Given the description of an element on the screen output the (x, y) to click on. 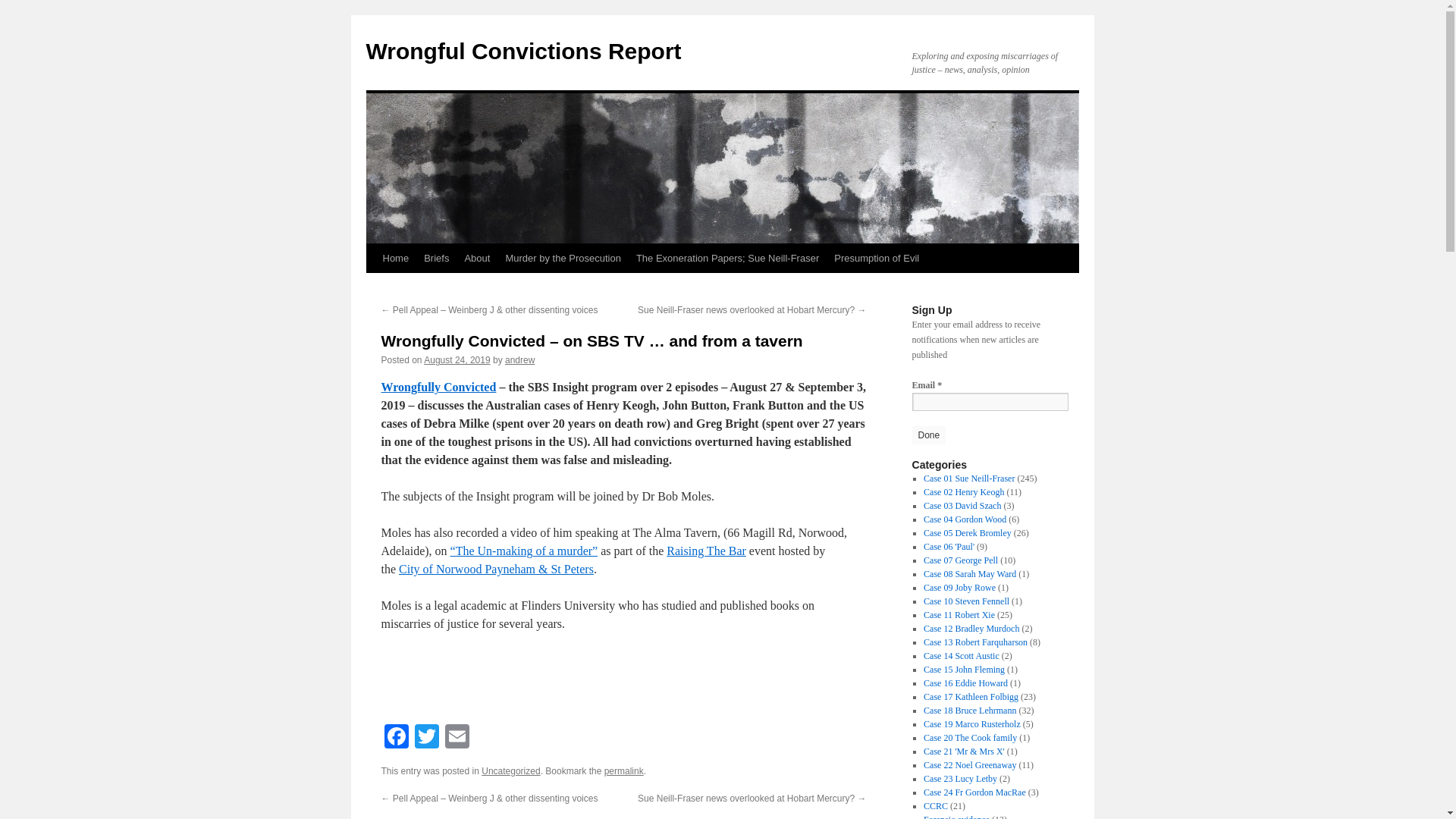
Presumption of Evil (876, 258)
Case 07 George Pell (960, 560)
Facebook (395, 737)
andrew (519, 359)
About (477, 258)
Case 02 Henry Keogh (963, 491)
Wrongfully Convicted (438, 386)
Case 05 Derek Bromley (967, 532)
Email (456, 737)
Murder by the Prosecution (562, 258)
